Given the description of an element on the screen output the (x, y) to click on. 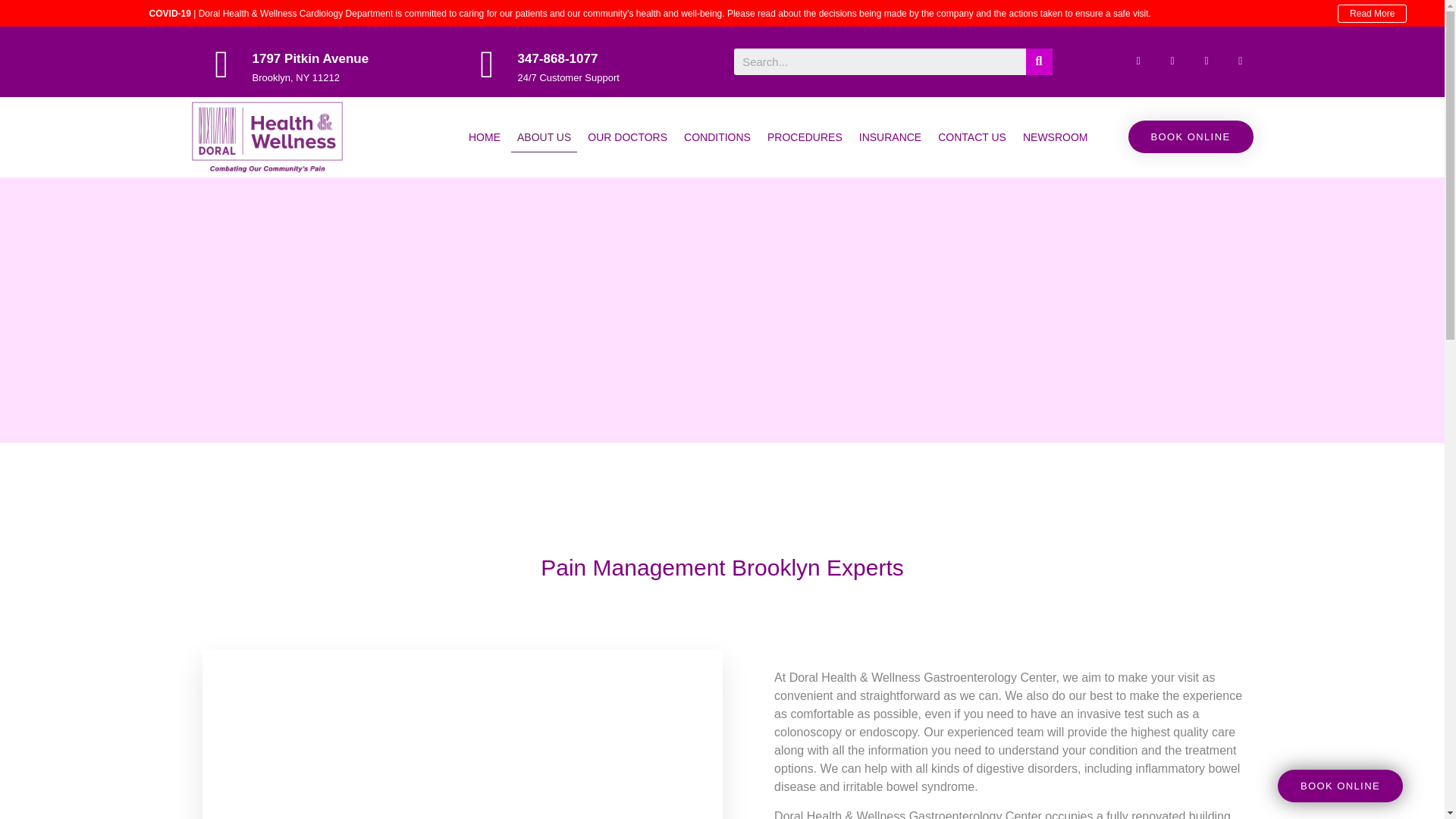
HOME (484, 137)
Search (879, 61)
Search (1038, 61)
ABOUT US (543, 137)
CONDITIONS (717, 137)
1797 Pitkin Avenue (309, 58)
347-868-1077 (556, 58)
PROCEDURES (804, 137)
Read More (1372, 13)
OUR DOCTORS (626, 137)
